Given the description of an element on the screen output the (x, y) to click on. 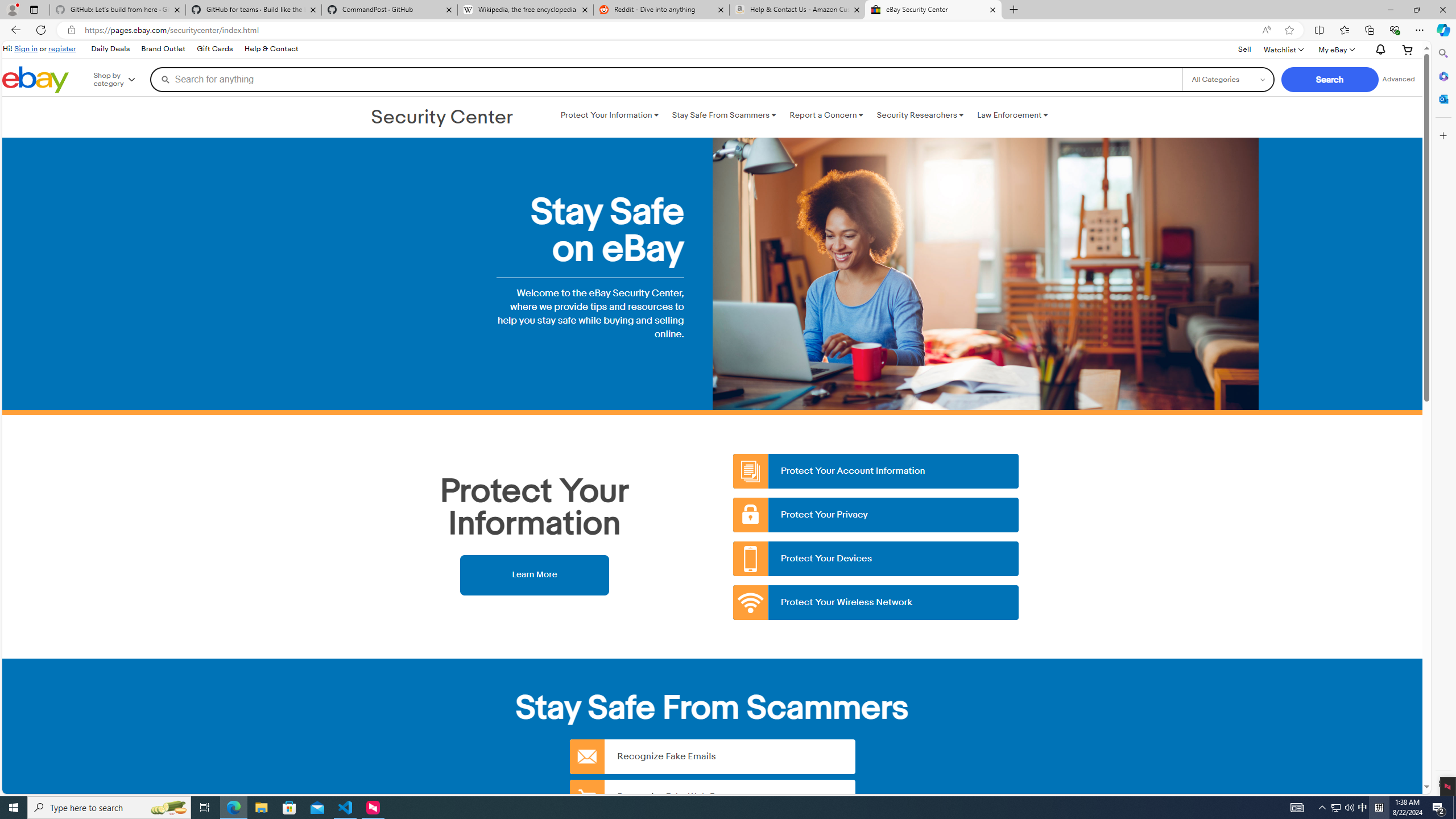
Sign in (25, 48)
Protect Your Wireless Network (876, 602)
Your shopping cart (1407, 49)
App bar (728, 29)
Law Enforcement  (1012, 115)
Address and search bar (669, 29)
Law Enforcement  (1012, 115)
My eBayExpand My eBay (1335, 49)
Protect Your Information  (608, 115)
Recognize Fake Web Pages (712, 796)
